Given the description of an element on the screen output the (x, y) to click on. 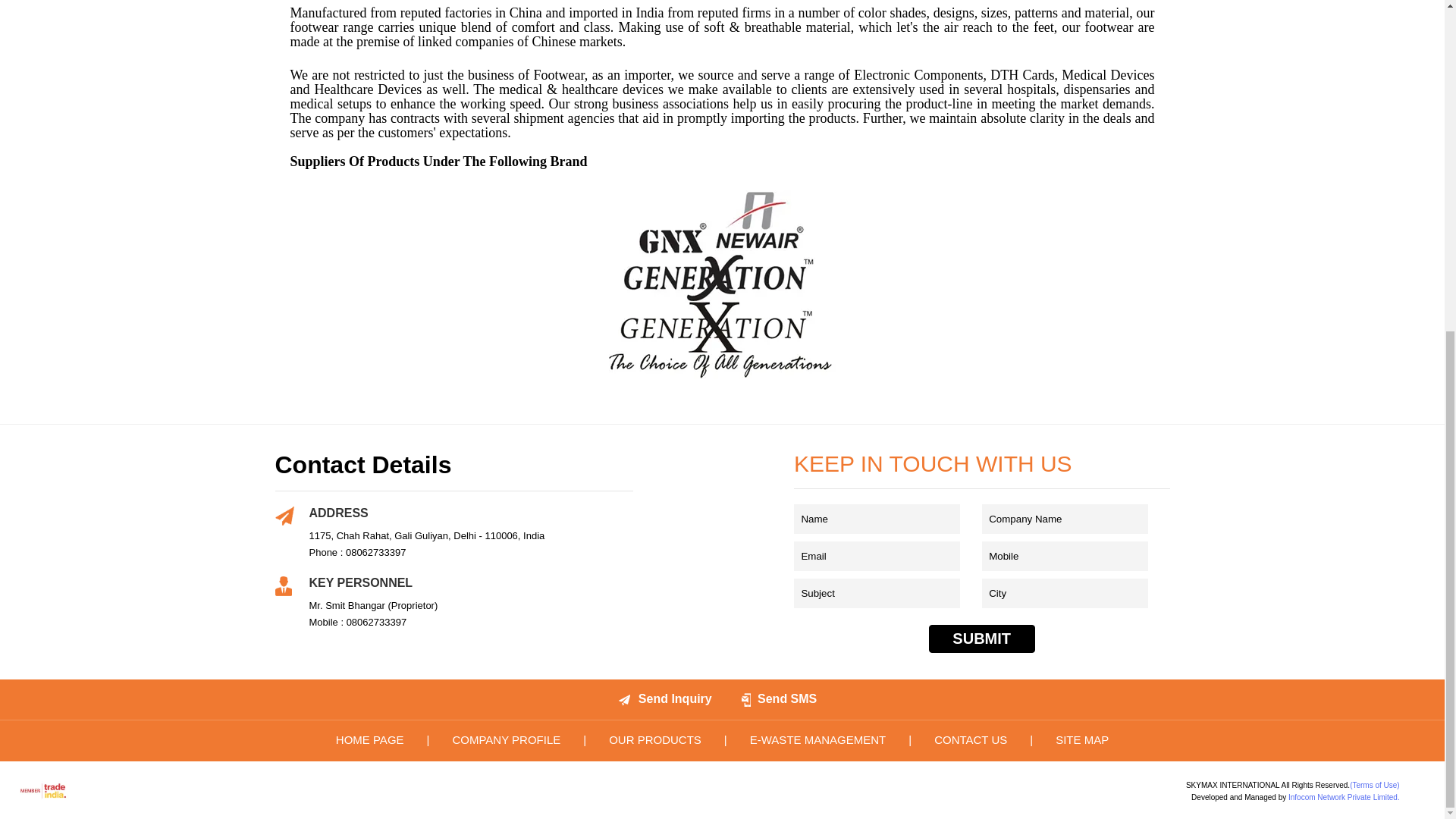
Submit (981, 638)
Company Name (1064, 518)
Address (284, 515)
City (1064, 593)
Subject (876, 593)
Send Inquiry (624, 699)
Name (876, 518)
Email (876, 555)
Mobile (1064, 555)
